Given the description of an element on the screen output the (x, y) to click on. 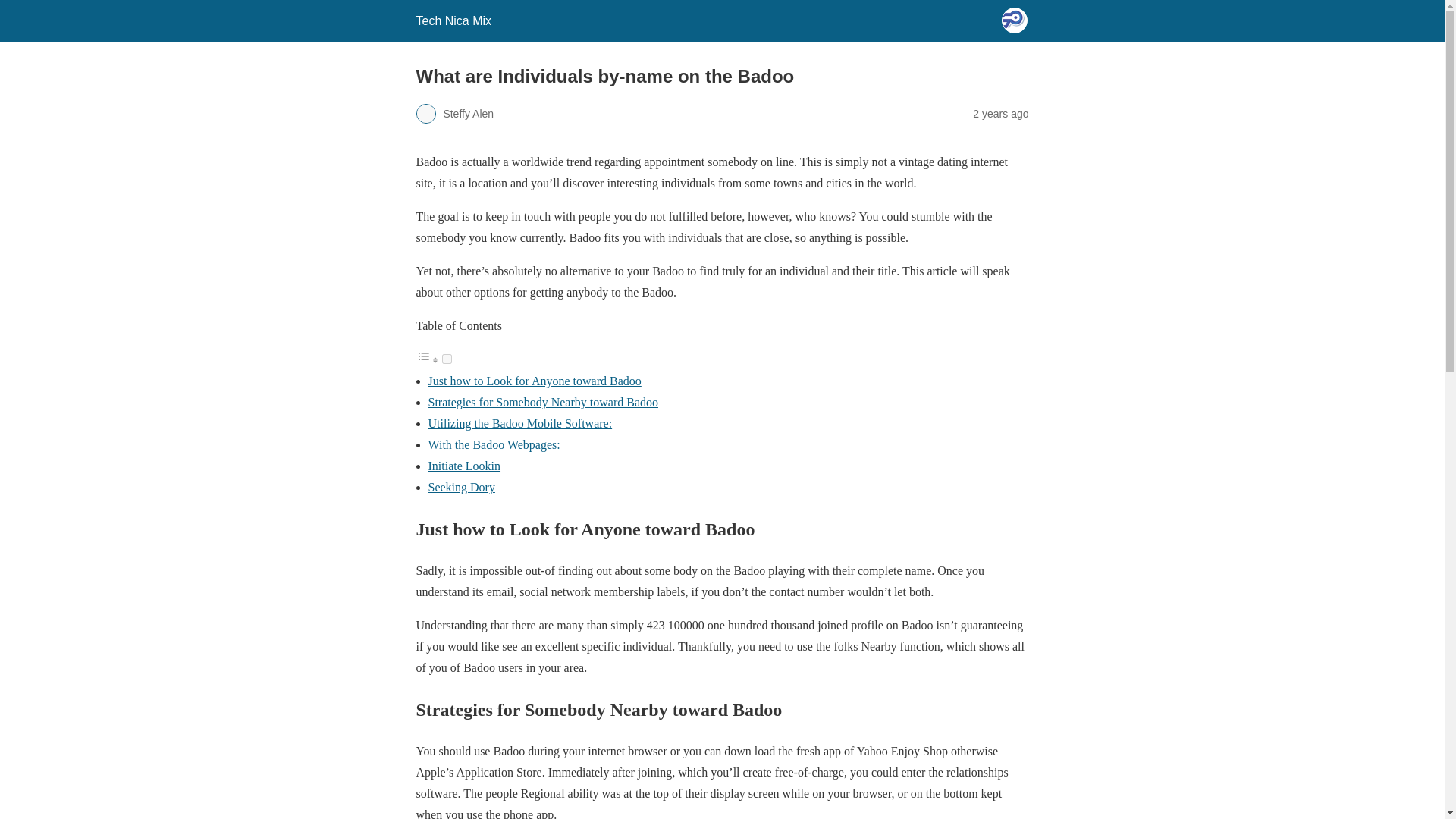
Utilizing the Badoo Mobile Software: (519, 422)
Strategies for Somebody Nearby toward Badoo (543, 401)
Just how to Look for Anyone toward Badoo (534, 380)
on (446, 358)
Tech Nica Mix (453, 20)
With the Badoo Webpages: (493, 444)
With the Badoo Webpages: (493, 444)
Seeking Dory (461, 486)
Just how to Look for Anyone toward Badoo (534, 380)
Strategies for Somebody Nearby toward Badoo (543, 401)
